Given the description of an element on the screen output the (x, y) to click on. 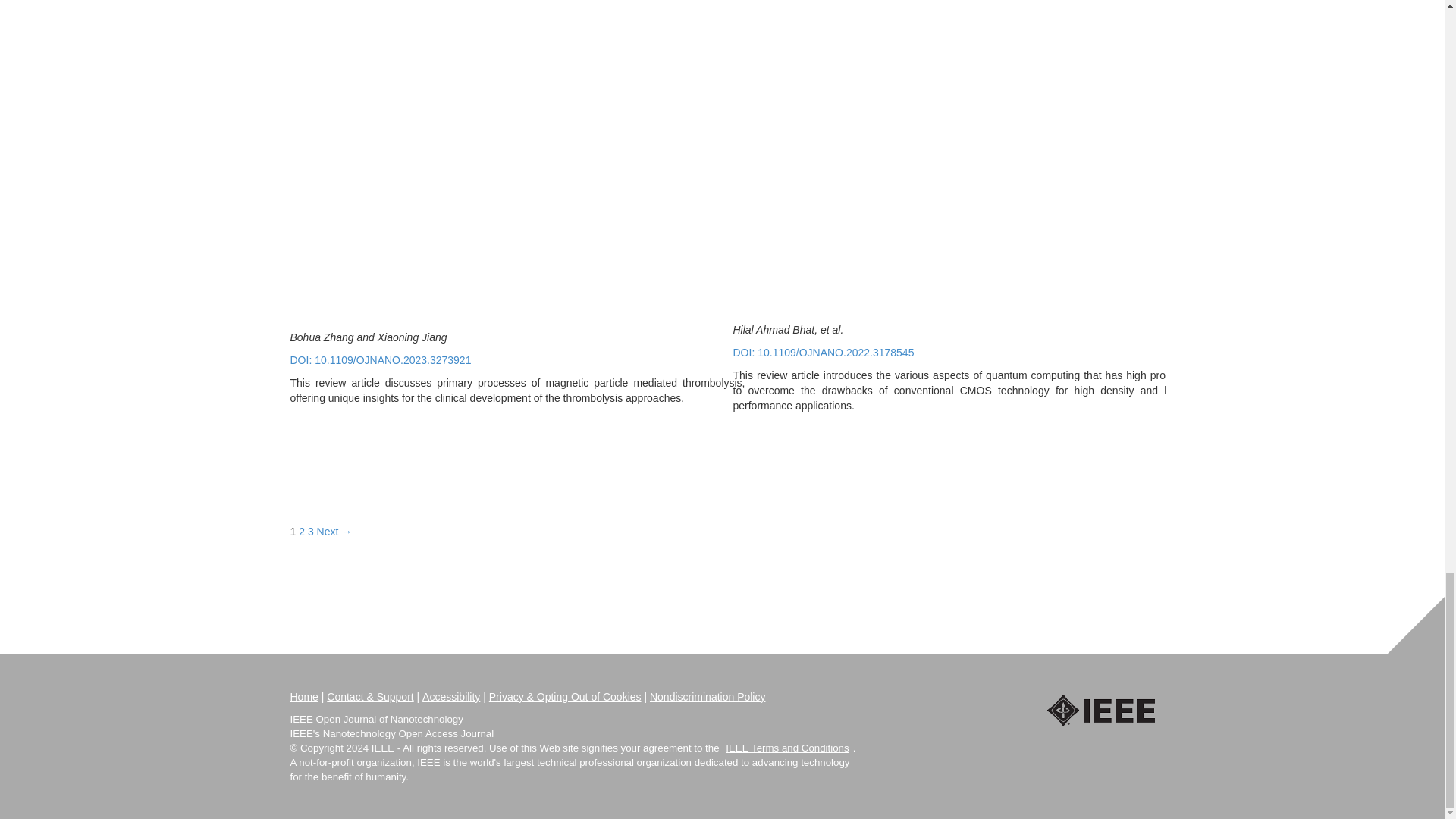
Nondiscrimination Policy (707, 696)
Accessibility (451, 696)
Home (303, 696)
